Given the description of an element on the screen output the (x, y) to click on. 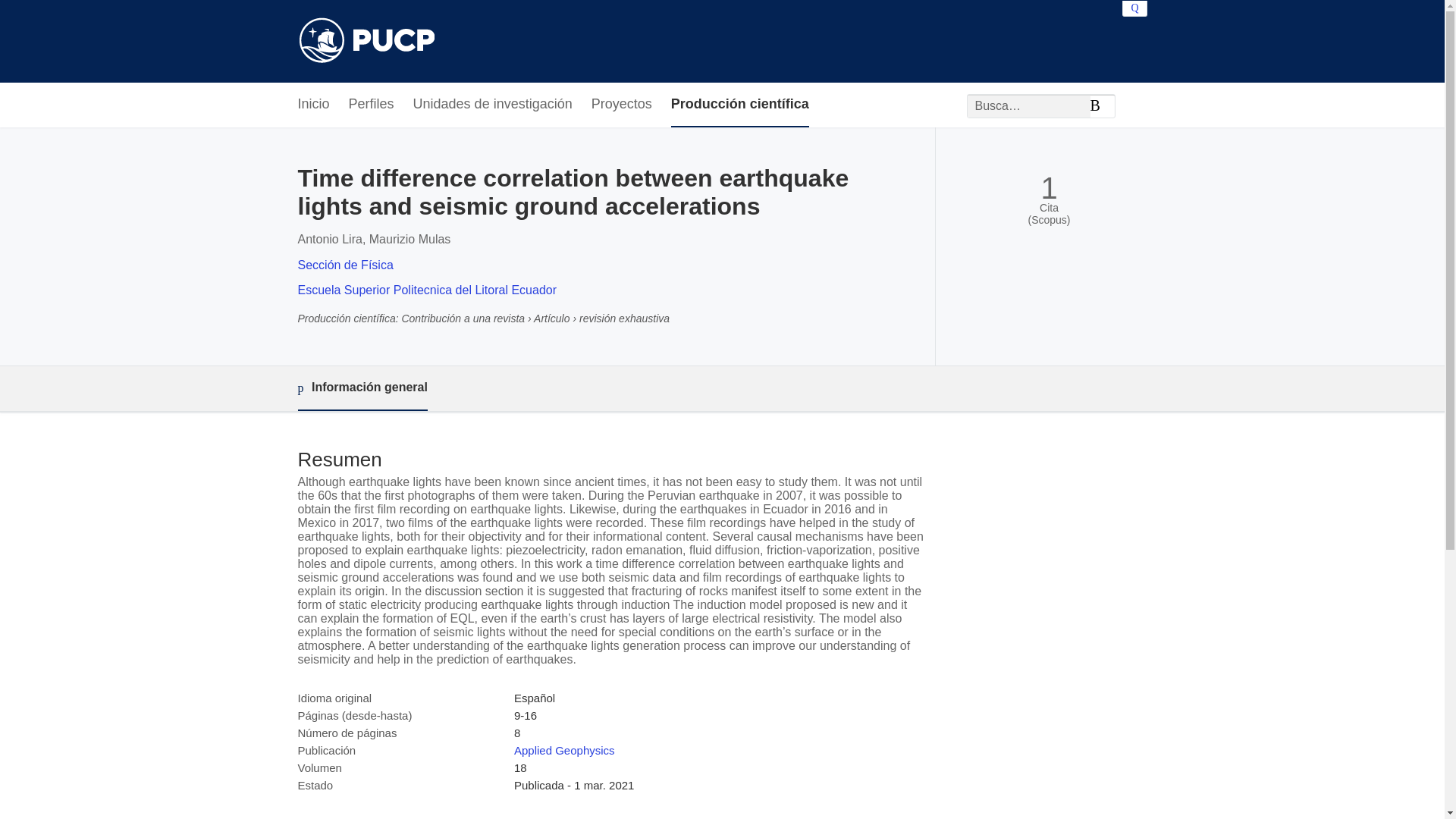
Proyectos (621, 104)
Applied Geophysics (563, 749)
Escuela Superior Politecnica del Litoral Ecuador (426, 289)
Perfiles (371, 104)
